Given the description of an element on the screen output the (x, y) to click on. 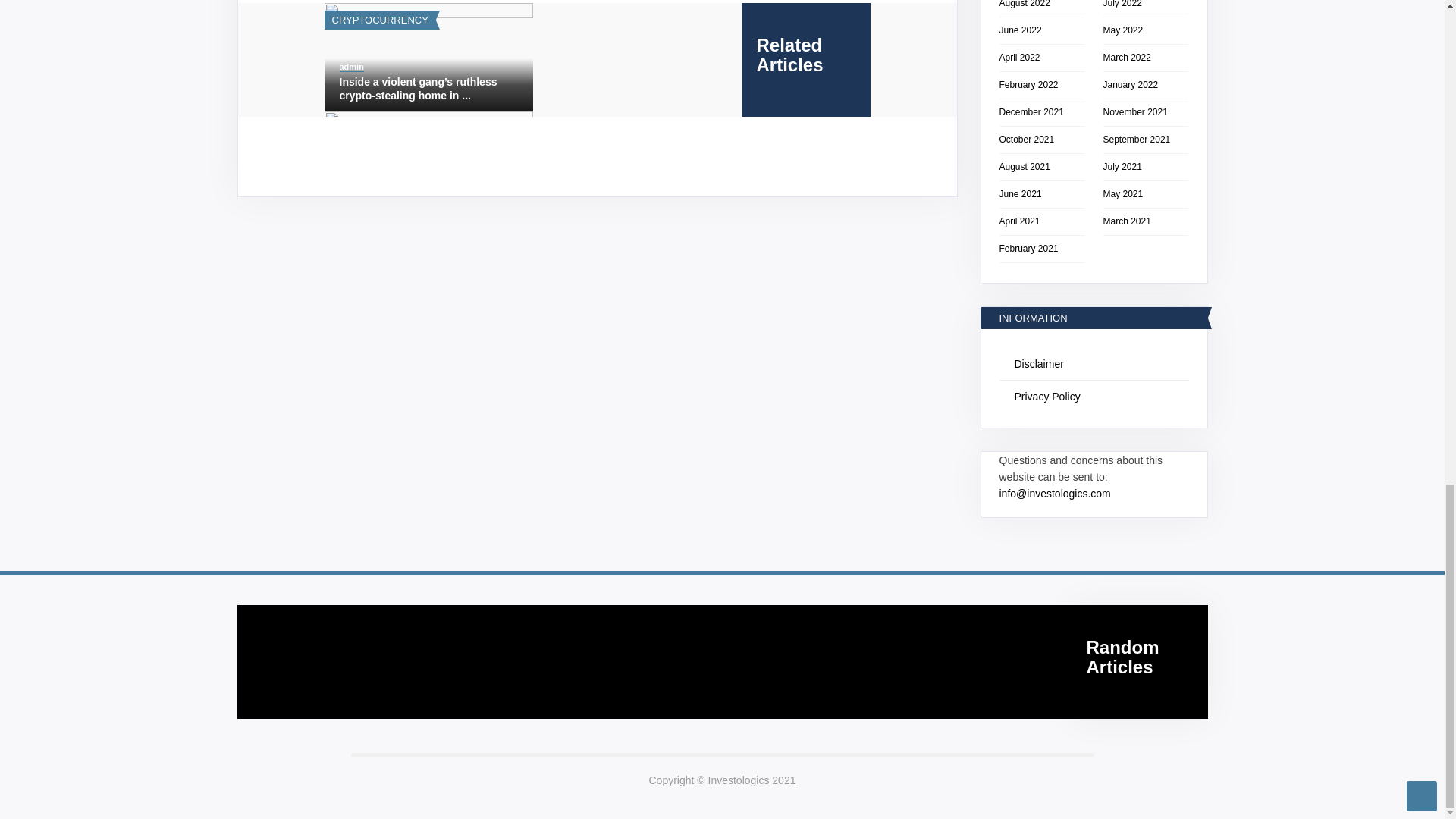
admin (351, 67)
Posts by admin (351, 67)
CRYPTOCURRENCY (379, 19)
View all posts in Cryptocurrency (379, 19)
